Given the description of an element on the screen output the (x, y) to click on. 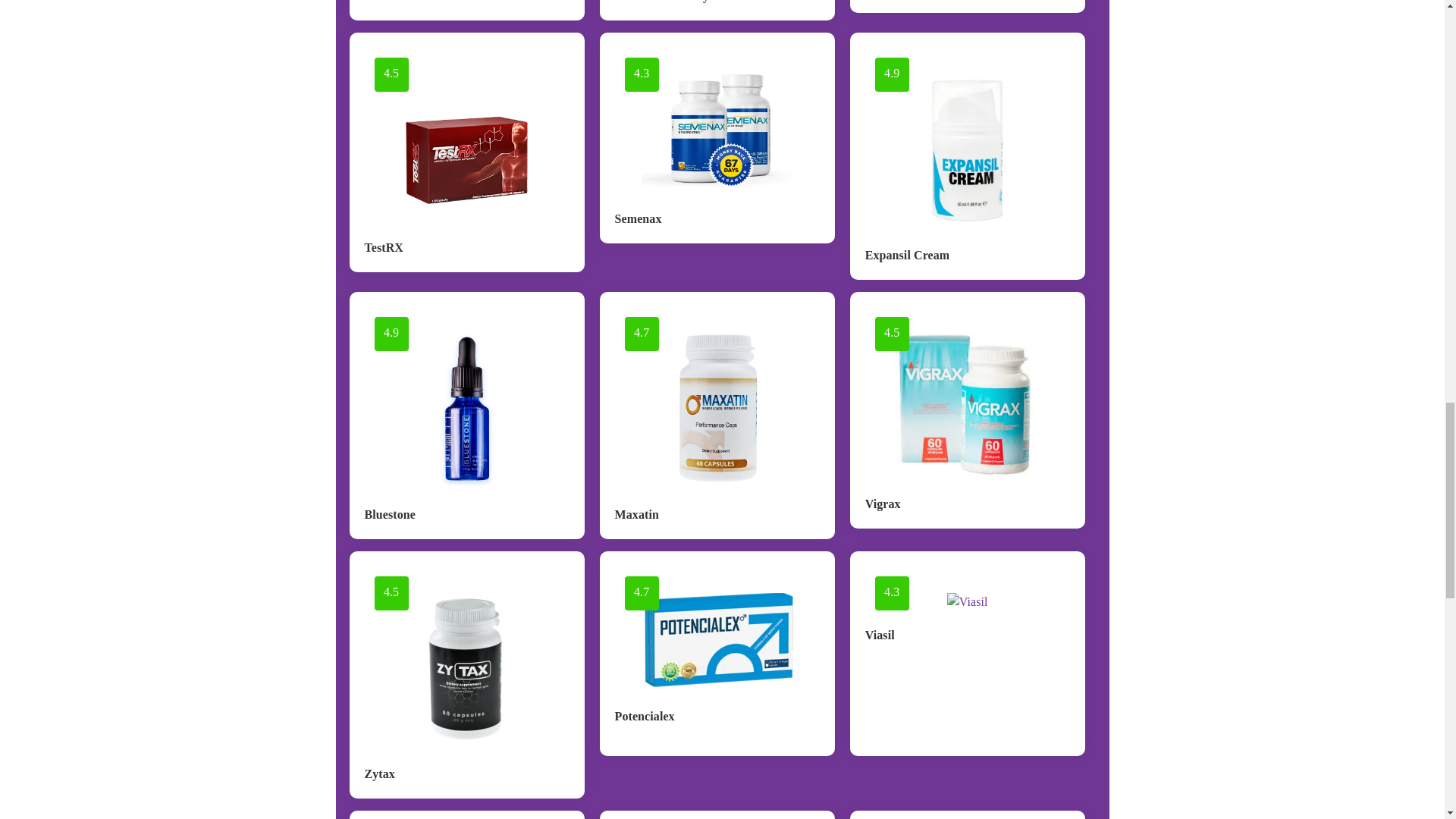
Erectil (381, 1)
Bluestone (389, 513)
Zytax (379, 773)
Potencialex (644, 716)
TestRX (383, 246)
NuviaLab Vitality (662, 1)
Semenax (638, 218)
Maxatin (636, 513)
